Given the description of an element on the screen output the (x, y) to click on. 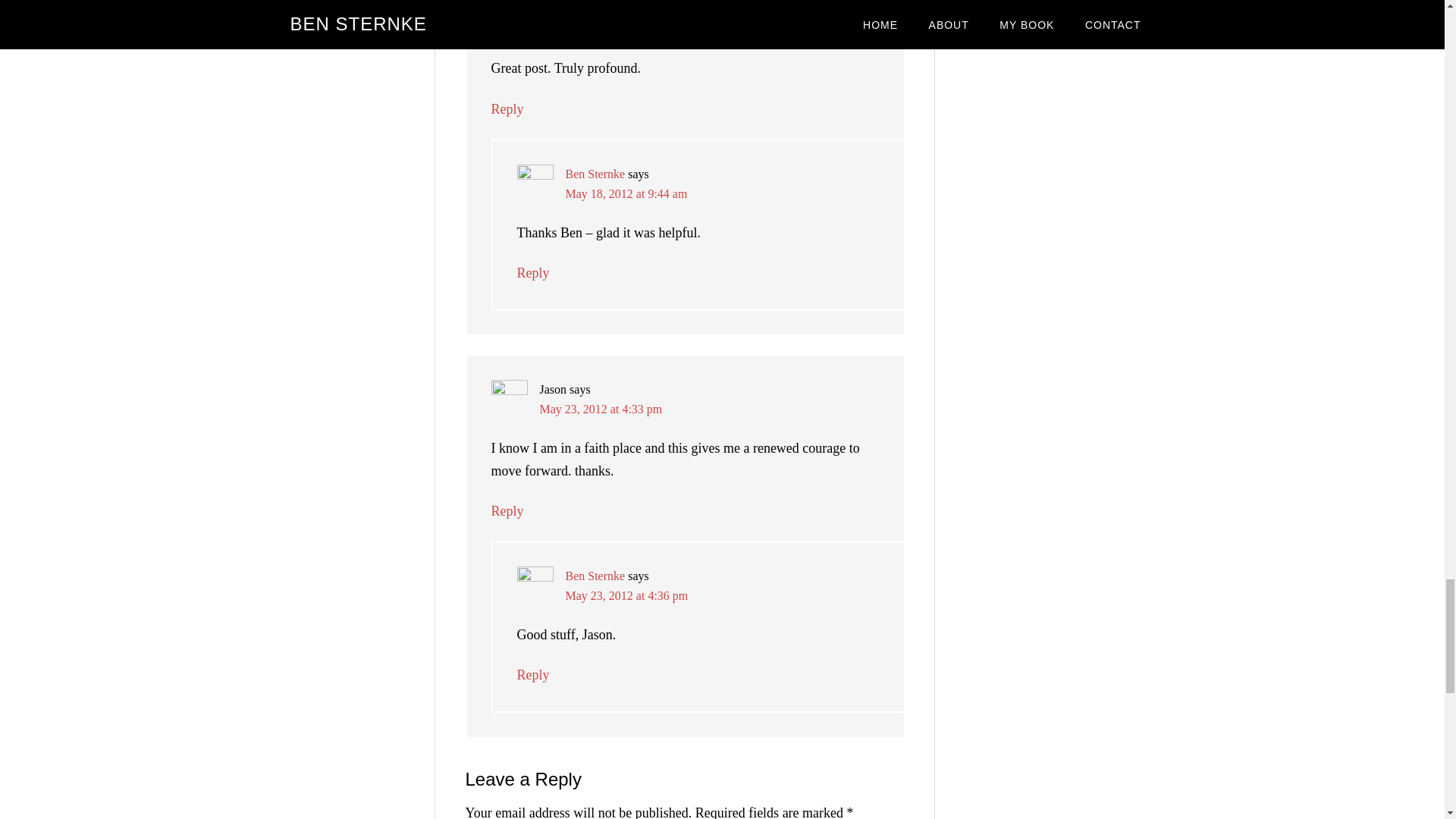
May 18, 2012 at 4:29 am (601, 29)
Reply (508, 109)
